Given the description of an element on the screen output the (x, y) to click on. 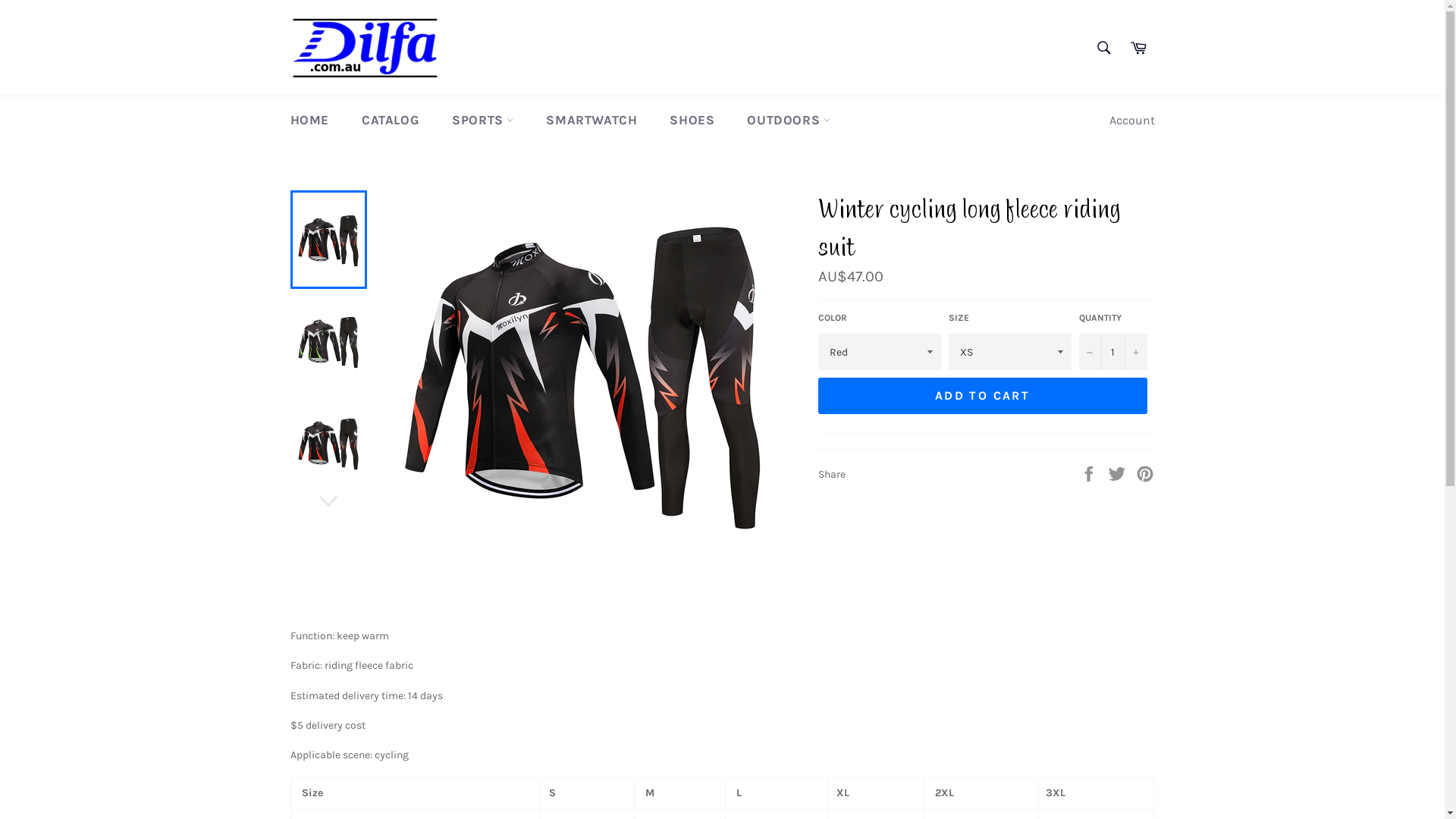
Account Element type: text (1131, 120)
SHOES Element type: text (691, 120)
CATALOG Element type: text (390, 120)
SPORTS Element type: text (482, 120)
SMARTWATCH Element type: text (591, 120)
+ Element type: text (1134, 351)
OUTDOORS Element type: text (787, 120)
ADD TO CART Element type: text (981, 395)
Pin on Pinterest Element type: text (1144, 473)
HOME Element type: text (308, 120)
Share on Facebook Element type: text (1089, 473)
Cart Element type: text (1138, 47)
Tweet on Twitter Element type: text (1117, 473)
Search Element type: text (1102, 47)
